Given the description of an element on the screen output the (x, y) to click on. 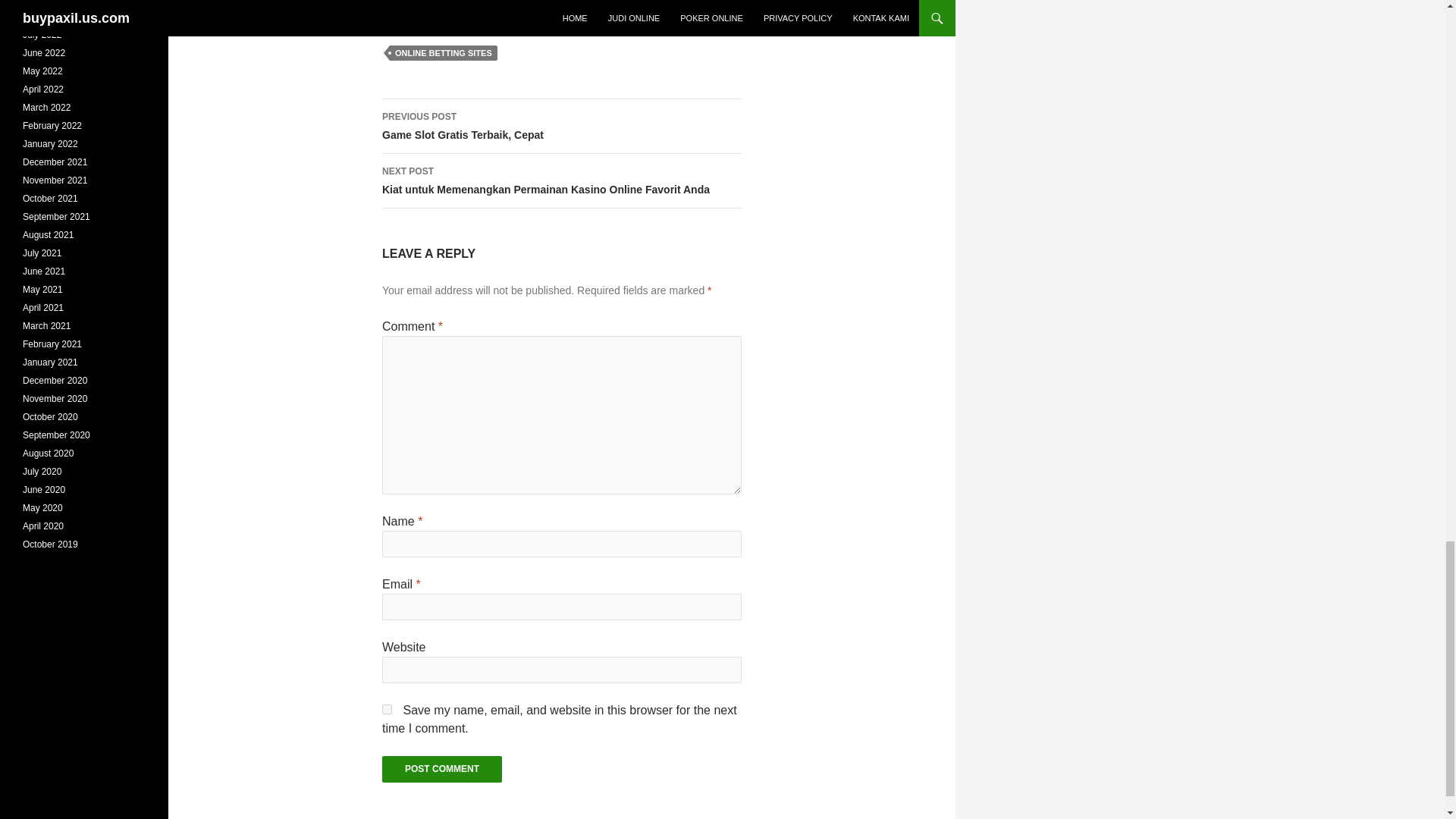
Post Comment (441, 768)
yes (386, 709)
Post Comment (441, 768)
ONLINE BETTING SITES (443, 52)
